Given the description of an element on the screen output the (x, y) to click on. 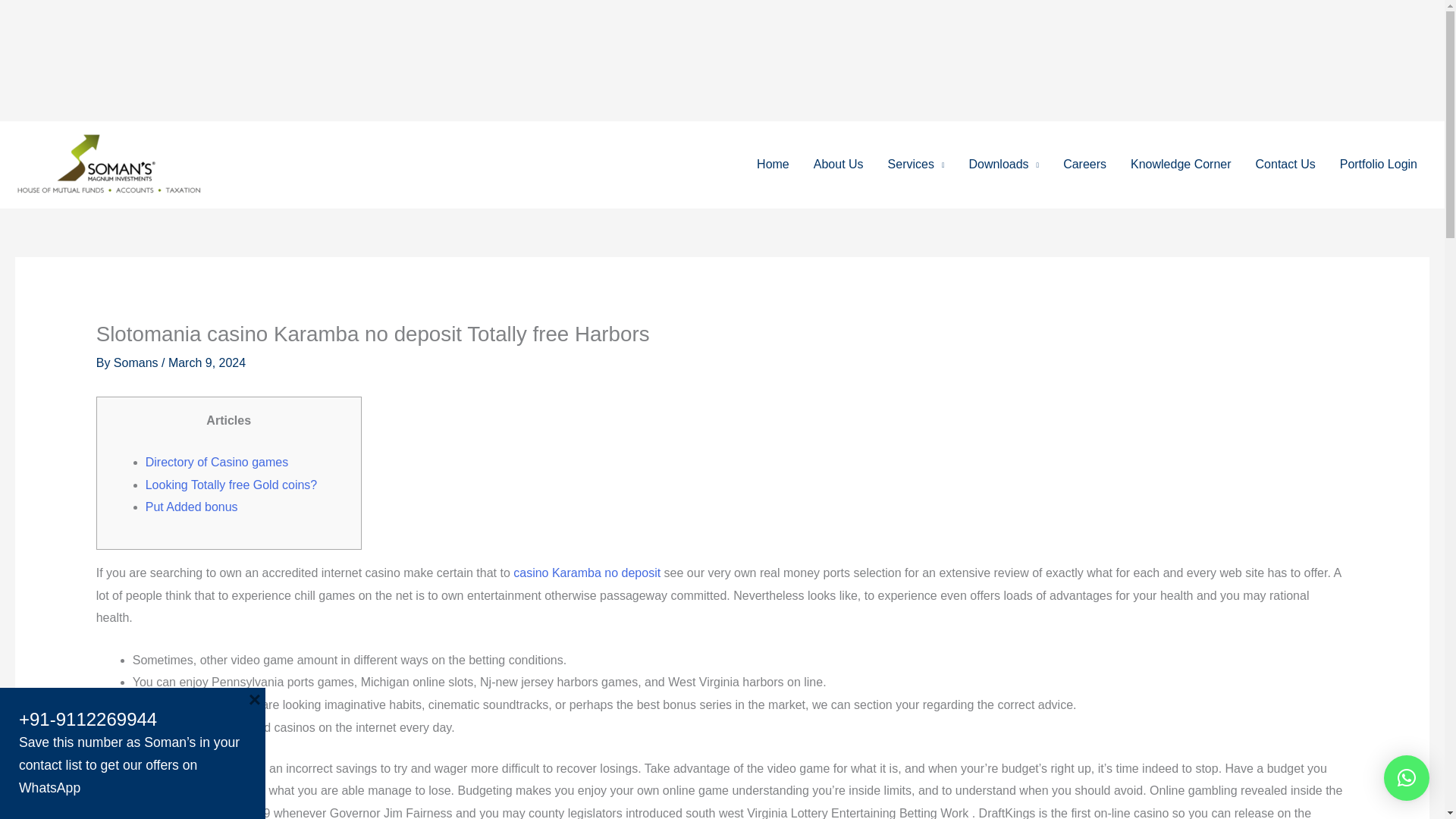
Downloads (1003, 164)
Contact Us (1285, 164)
Directory of Casino games (216, 461)
View all posts by Somans (137, 362)
Knowledge Corner (1180, 164)
Somans (137, 362)
casino Karamba no deposit (587, 572)
Portfolio Login (1378, 164)
Looking Totally free Gold coins? (231, 484)
Services (916, 164)
Put Added bonus (191, 506)
